Given the description of an element on the screen output the (x, y) to click on. 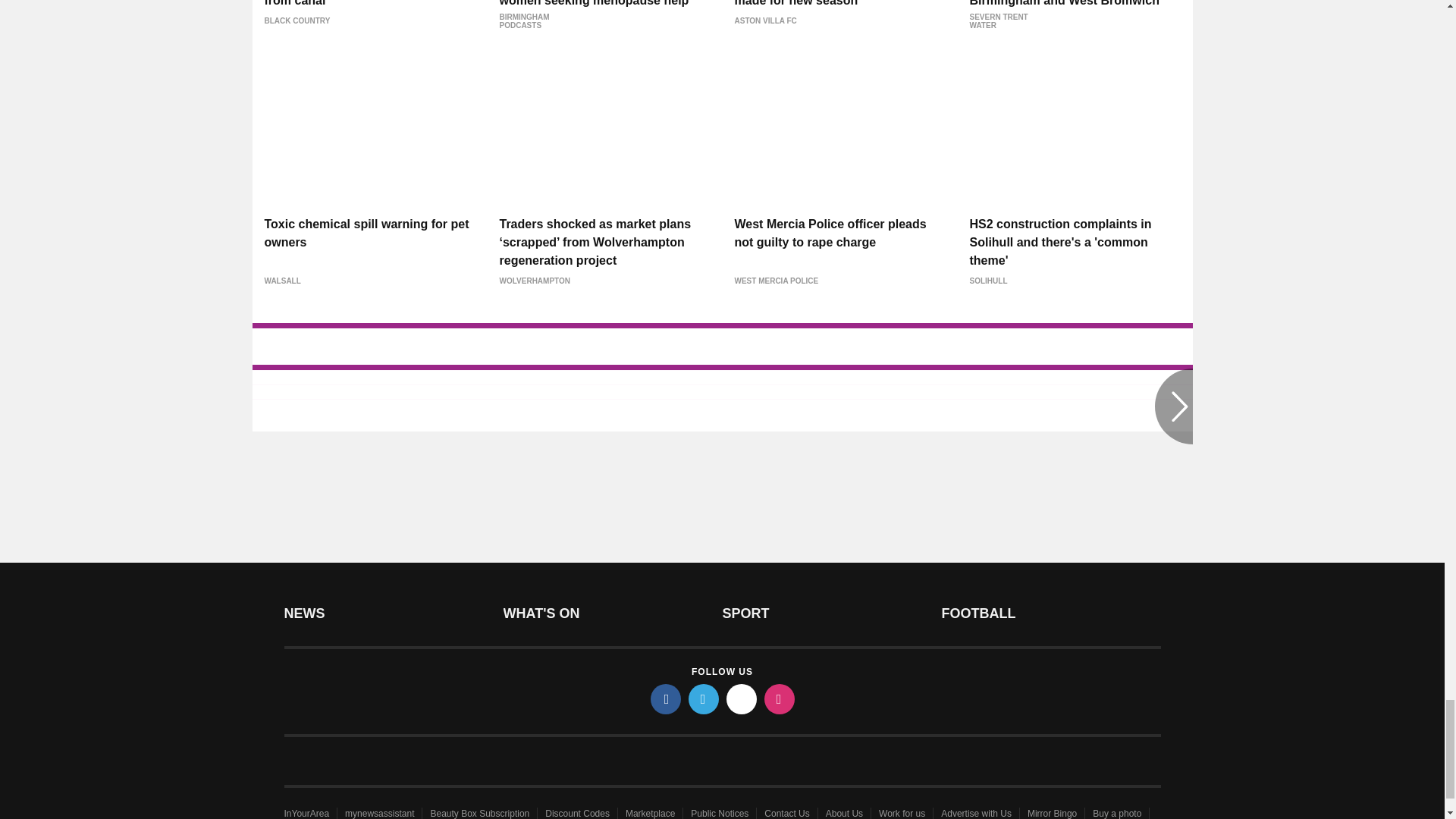
instagram (779, 698)
twitter (703, 698)
facebook (665, 698)
tiktok (741, 698)
